Given the description of an element on the screen output the (x, y) to click on. 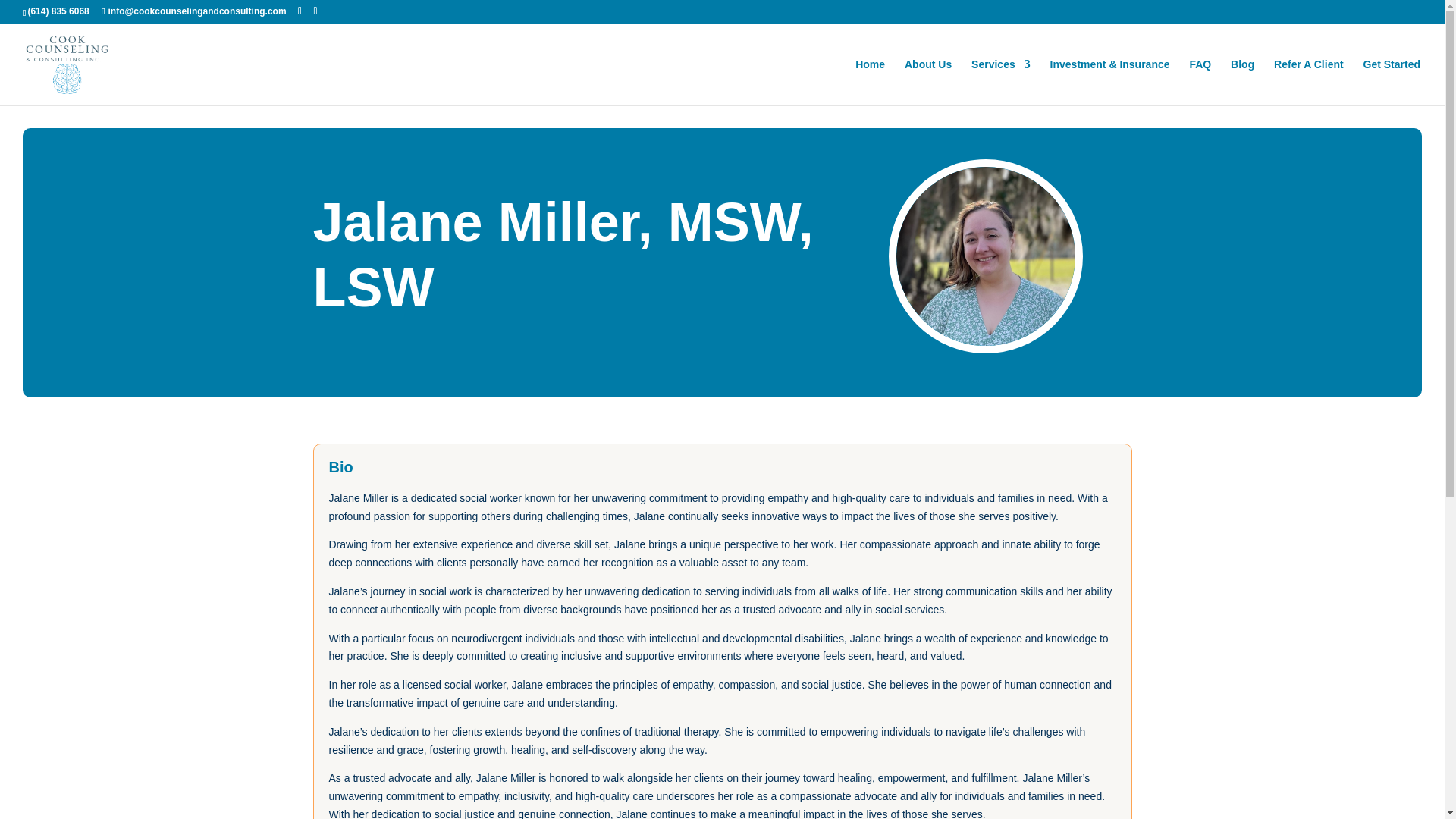
Services (1000, 81)
Get Started (1391, 81)
About Us (928, 81)
Refer A Client (1308, 81)
52 (985, 256)
